Given the description of an element on the screen output the (x, y) to click on. 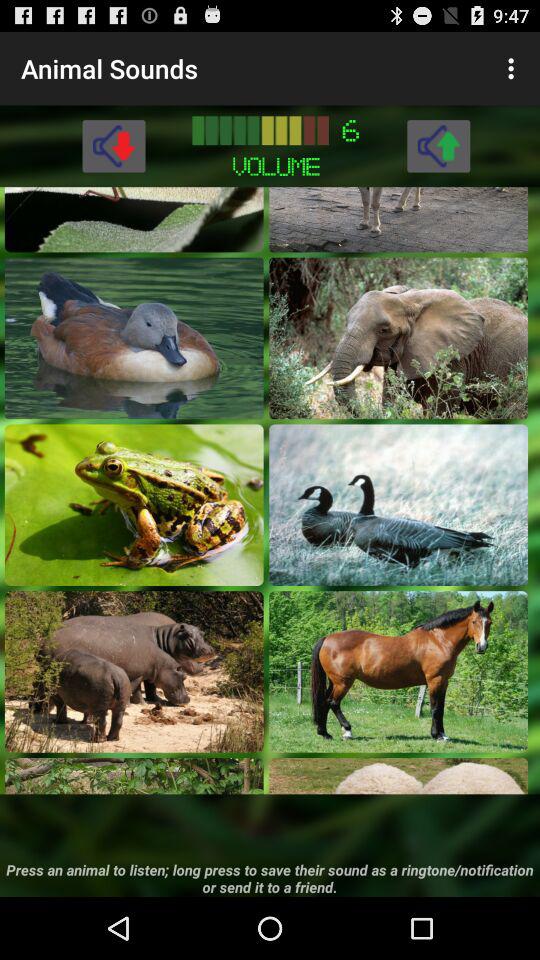
press to listen (398, 775)
